Given the description of an element on the screen output the (x, y) to click on. 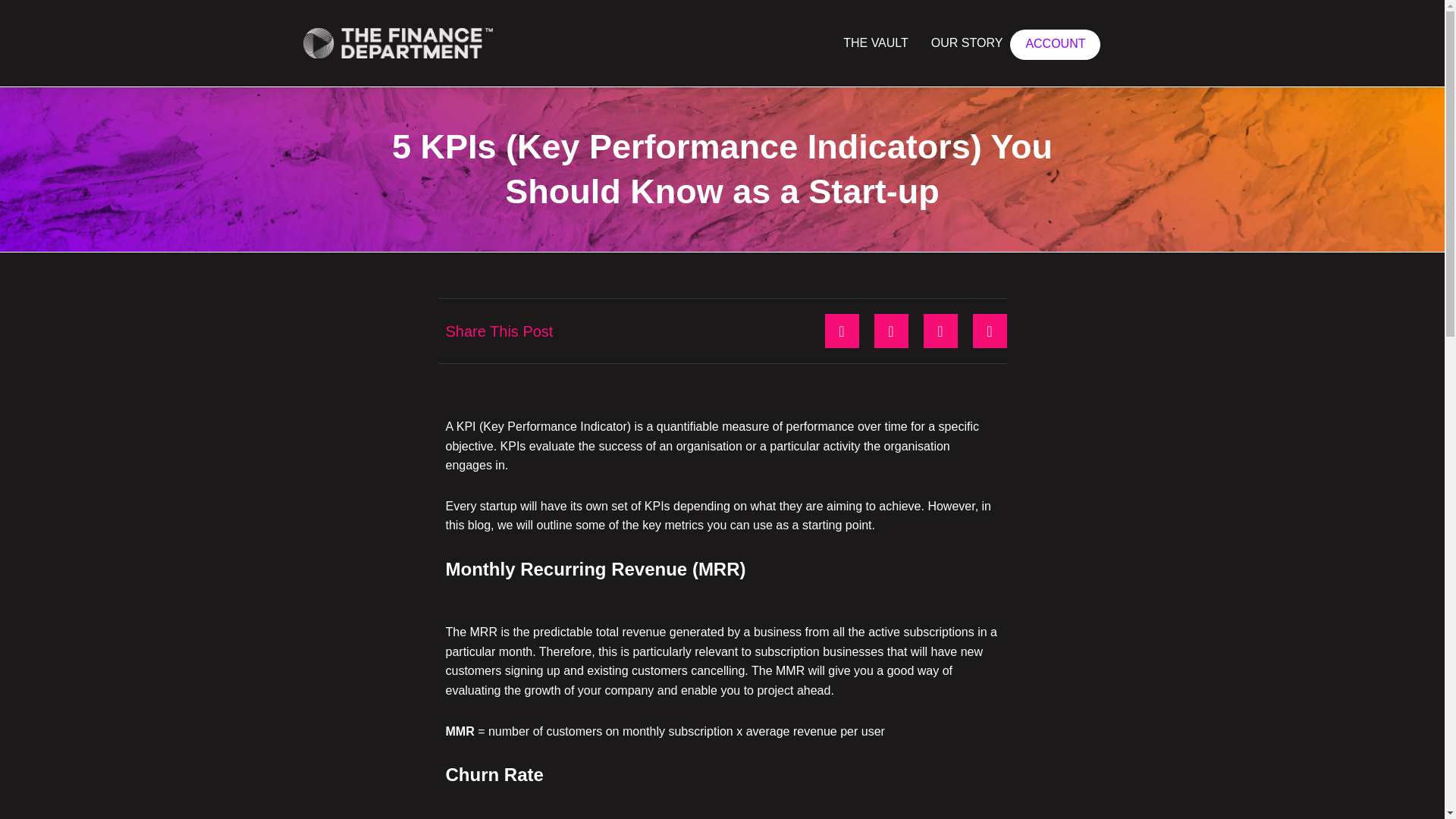
THE VAULT (875, 42)
OUR STORY (966, 42)
ACCOUNT (1055, 44)
